Given the description of an element on the screen output the (x, y) to click on. 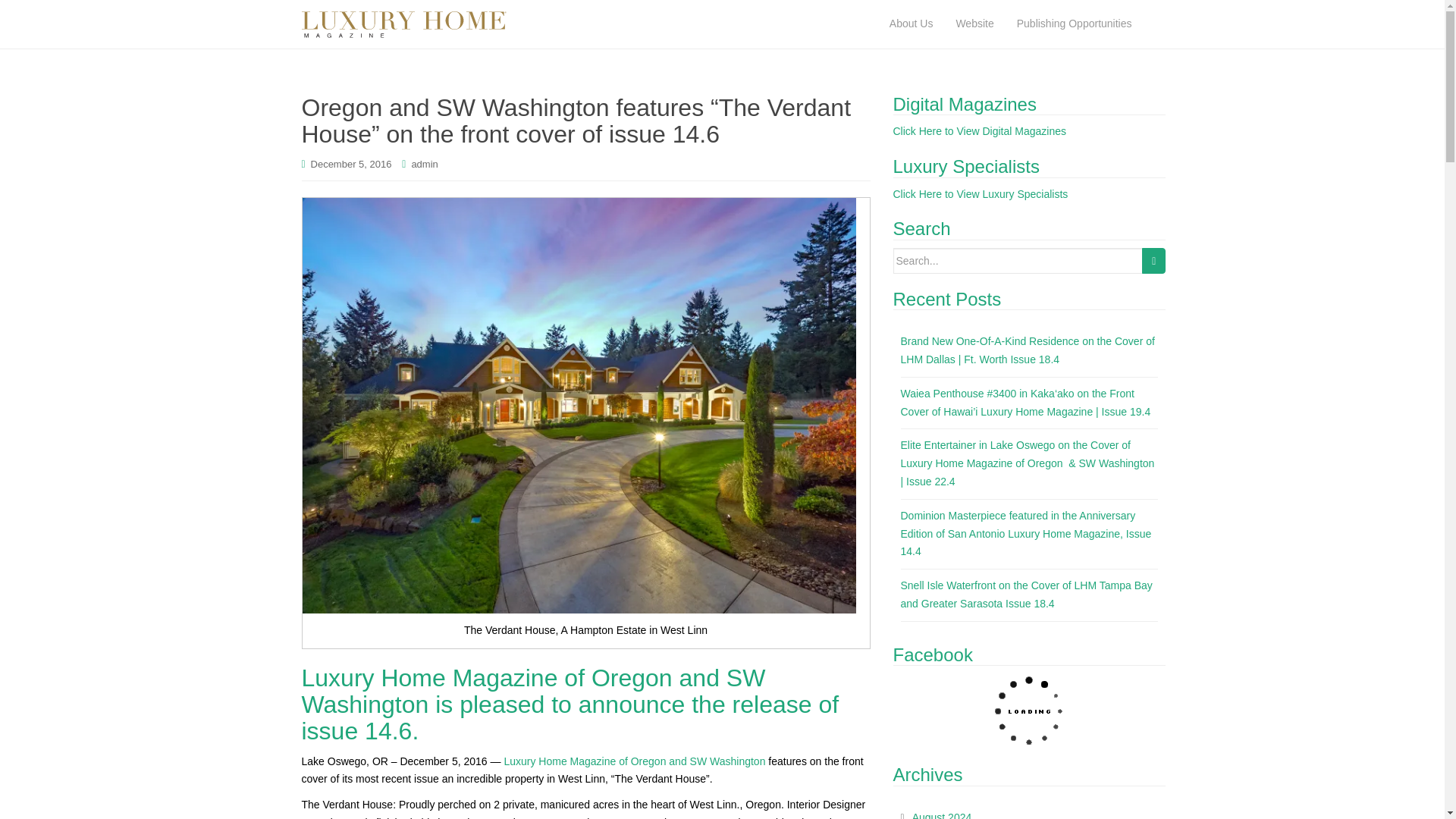
Website (973, 24)
About Us (910, 24)
Luxury Home Magazine of Oregon and SW Washington (634, 761)
December 5, 2016 (351, 163)
Publishing Opportunities (1074, 24)
Publishing Opportunities (1074, 24)
About Us (910, 24)
August 2024 (942, 815)
